Given the description of an element on the screen output the (x, y) to click on. 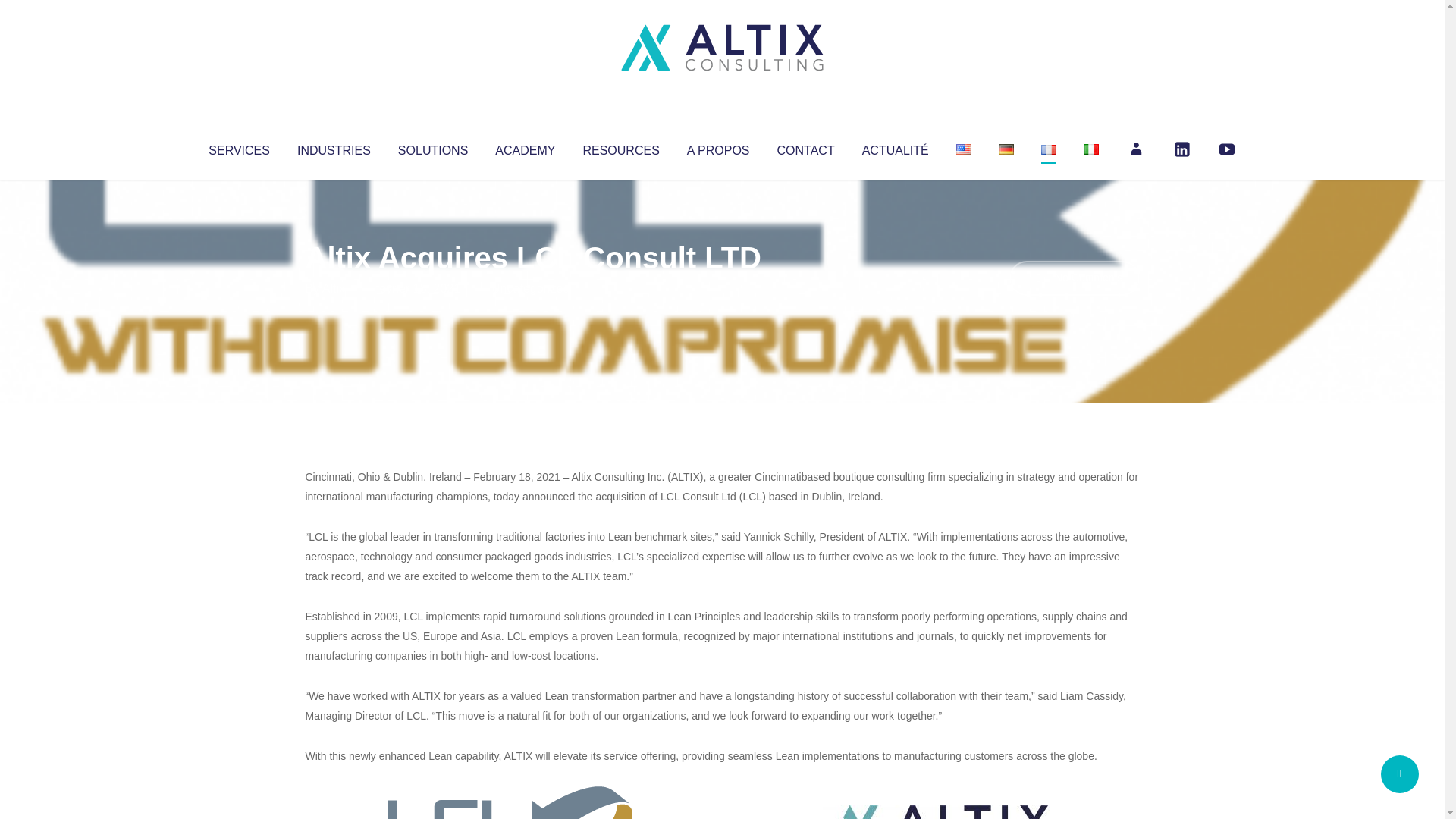
RESOURCES (620, 146)
No Comments (1073, 278)
Altix (333, 287)
Uncategorized (530, 287)
SERVICES (238, 146)
INDUSTRIES (334, 146)
Articles par Altix (333, 287)
SOLUTIONS (432, 146)
ACADEMY (524, 146)
A PROPOS (718, 146)
